Given the description of an element on the screen output the (x, y) to click on. 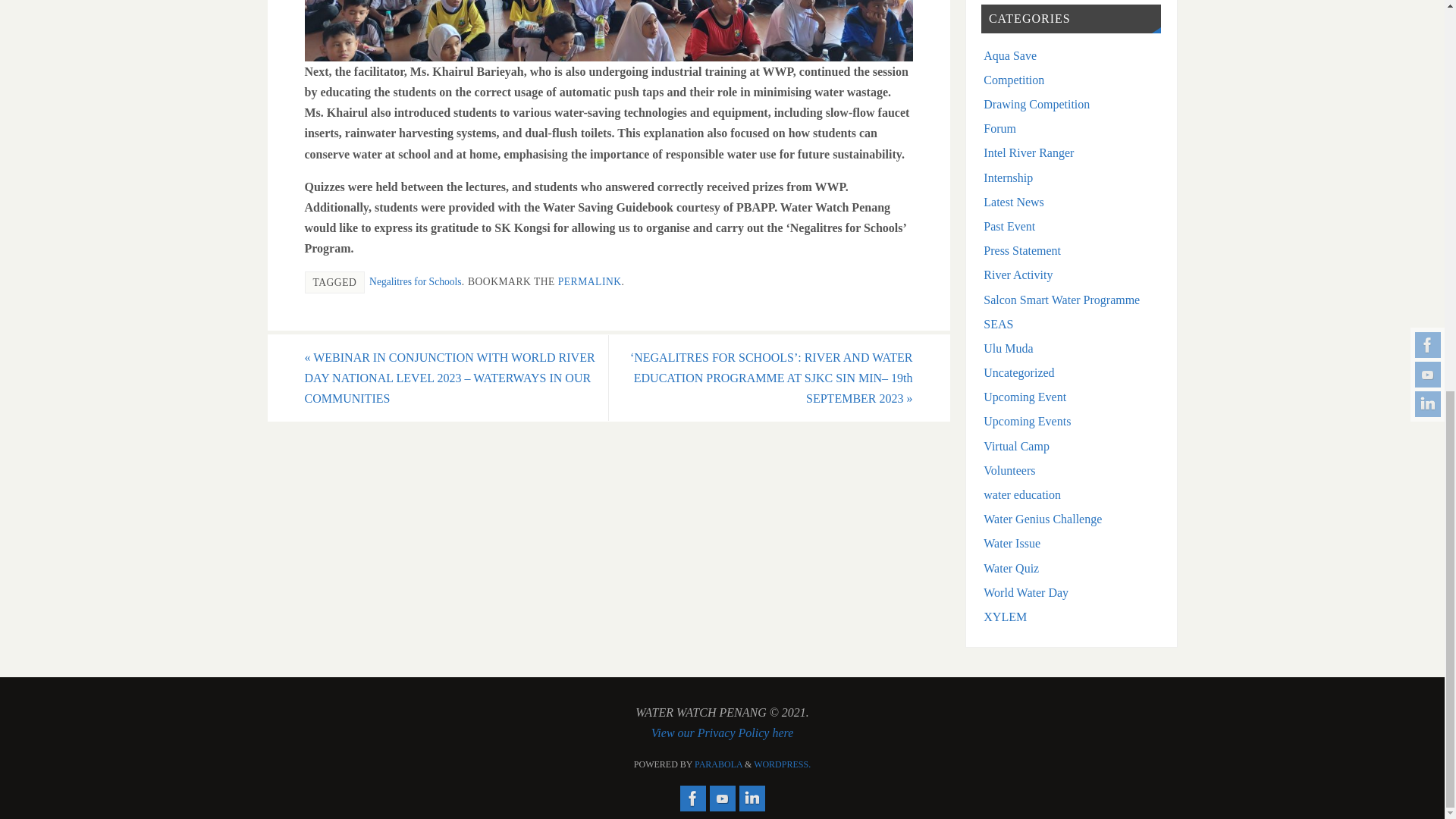
YouTube (722, 798)
Parabola Theme by Cryout Creations (718, 764)
LinkedIn (751, 798)
Semantic Personal Publishing Platform (782, 764)
Facebook (691, 798)
